Given the description of an element on the screen output the (x, y) to click on. 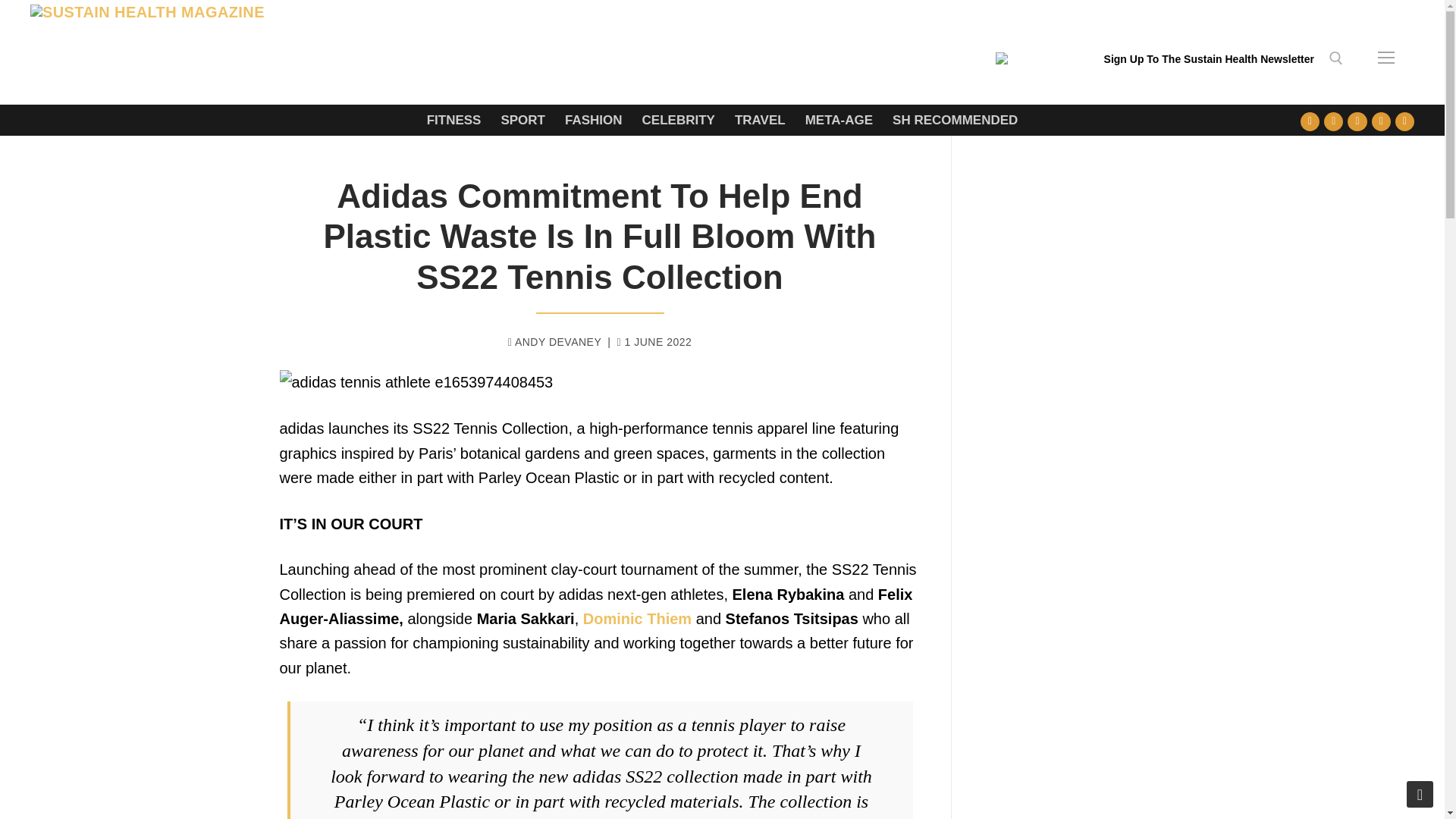
ANDY DEVANEY (555, 341)
Instagram (1380, 121)
Pinterest (1404, 121)
SPORT (522, 119)
META-AGE (838, 119)
CELEBRITY (678, 119)
Twitter (1333, 121)
FASHION (592, 119)
Sign Up To The Sustain Health Newsletter (1208, 66)
FITNESS (454, 119)
